Given the description of an element on the screen output the (x, y) to click on. 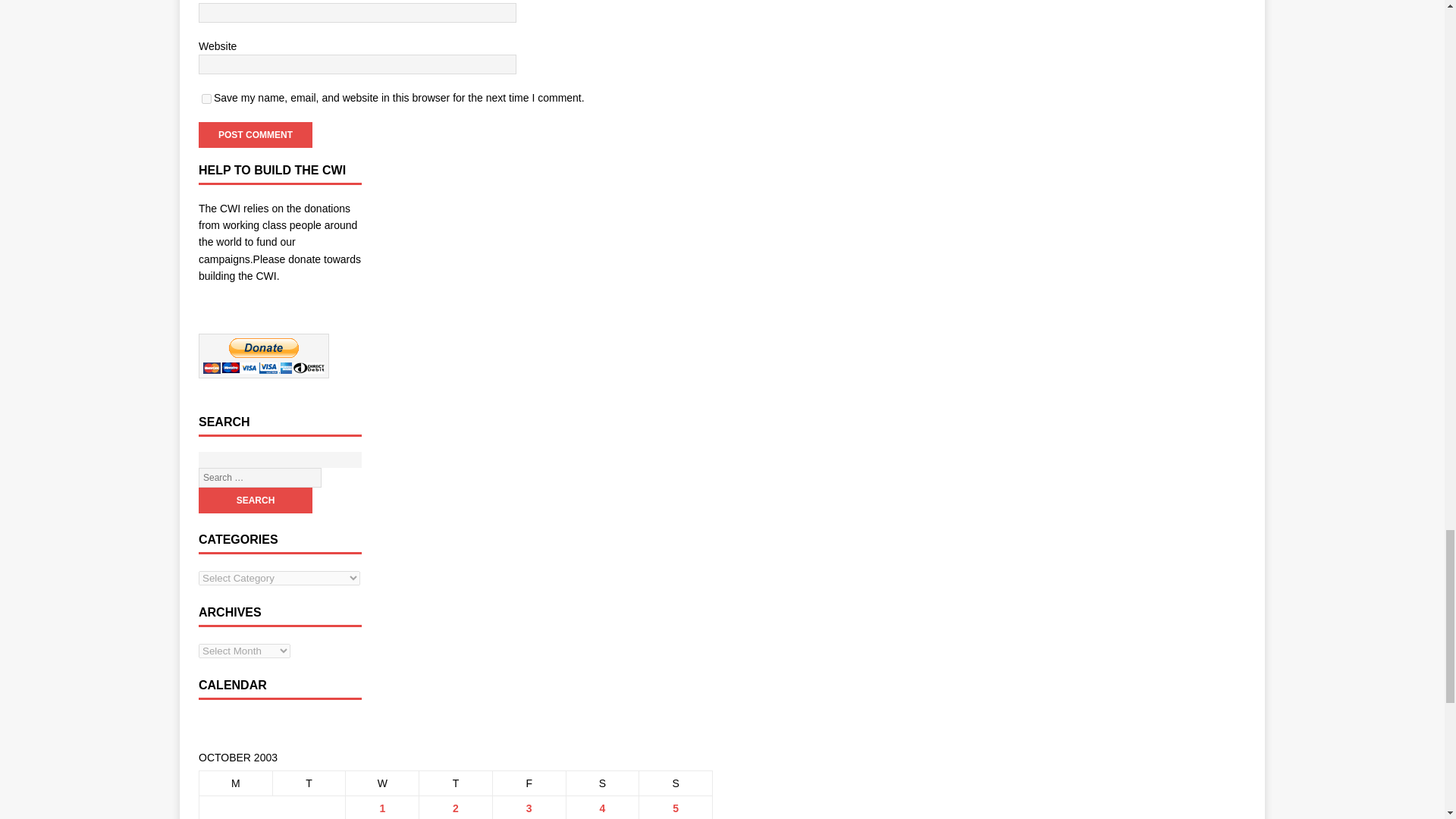
Post Comment (255, 135)
Search (255, 500)
Search (255, 500)
yes (206, 99)
